Given the description of an element on the screen output the (x, y) to click on. 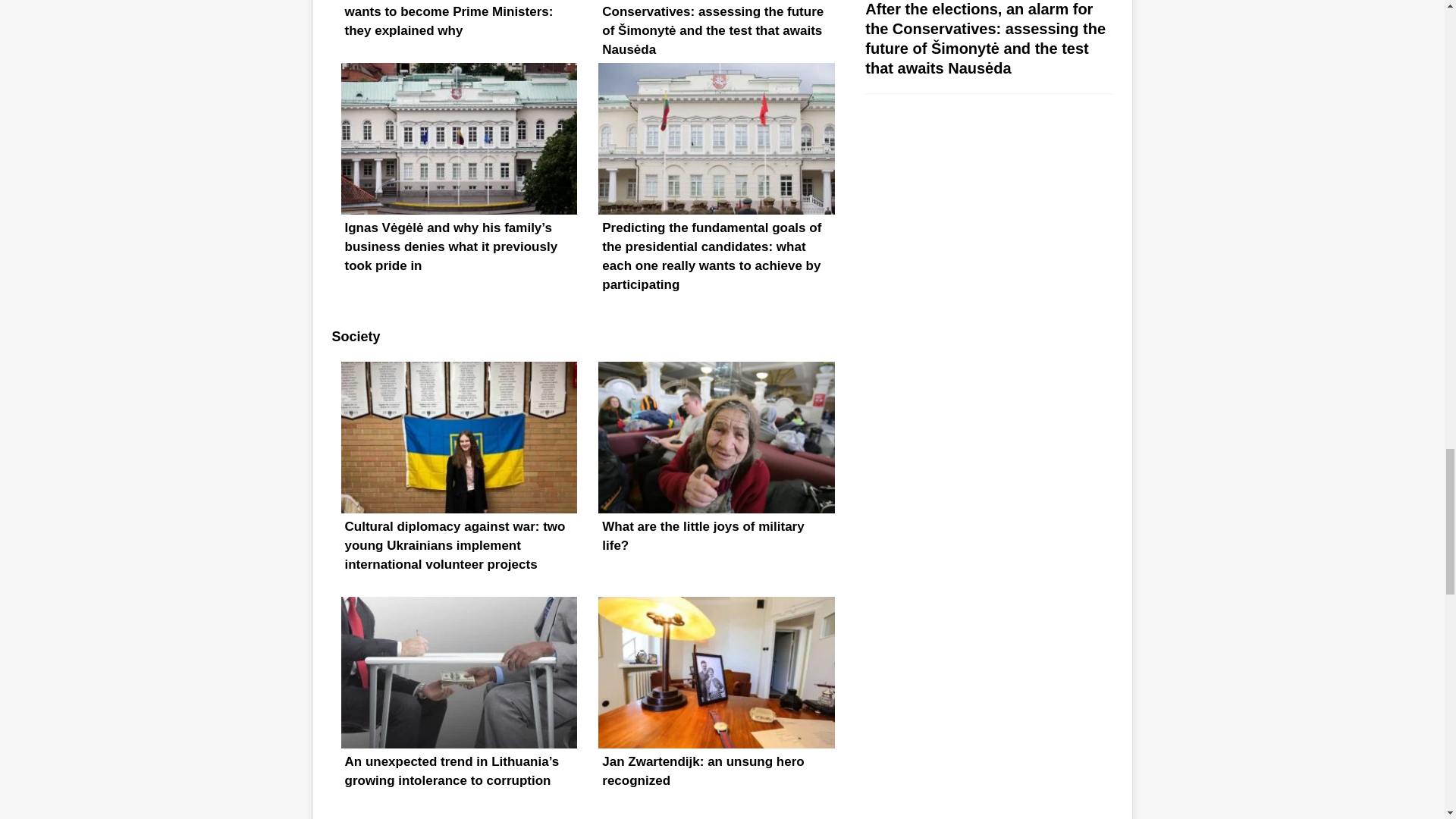
What are the little joys of military life? (716, 479)
Jan Zwartendijk: an unsung hero recognized (716, 708)
